Given the description of an element on the screen output the (x, y) to click on. 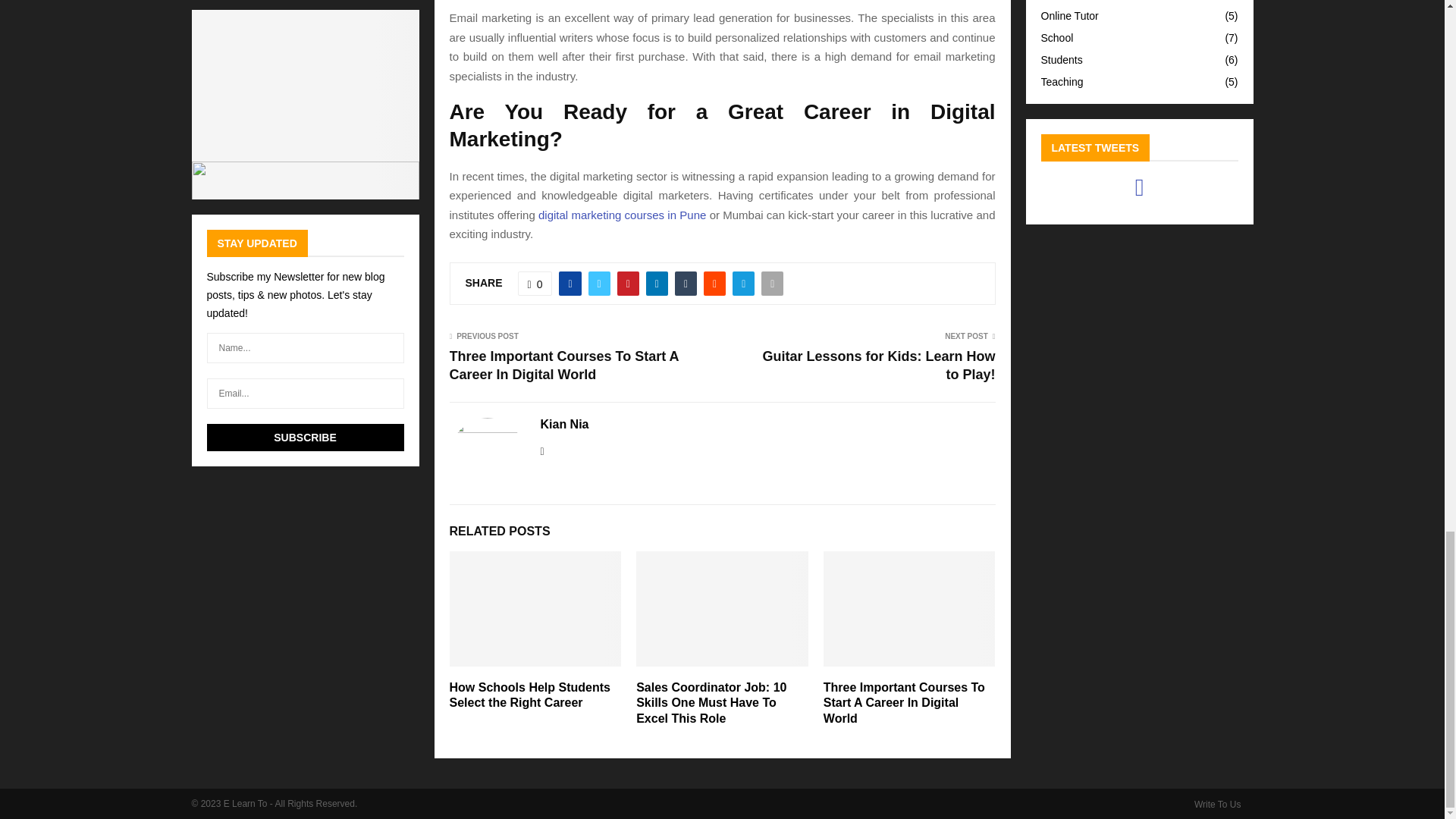
Like (535, 283)
Subscribe (304, 437)
digital marketing courses in Pune (622, 214)
0 (535, 283)
